Given the description of an element on the screen output the (x, y) to click on. 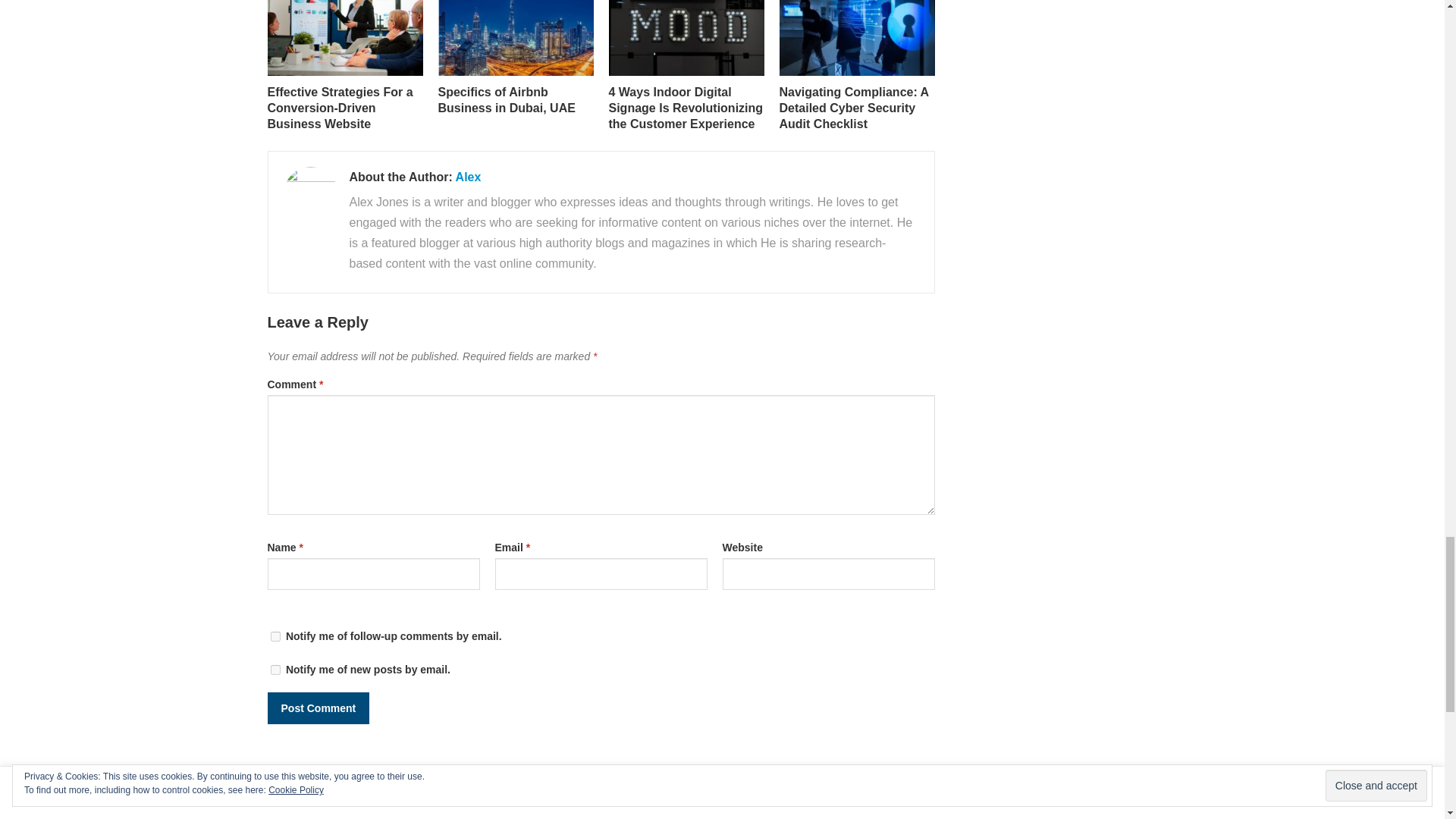
Post Comment (317, 707)
subscribe (274, 636)
subscribe (274, 669)
